Given the description of an element on the screen output the (x, y) to click on. 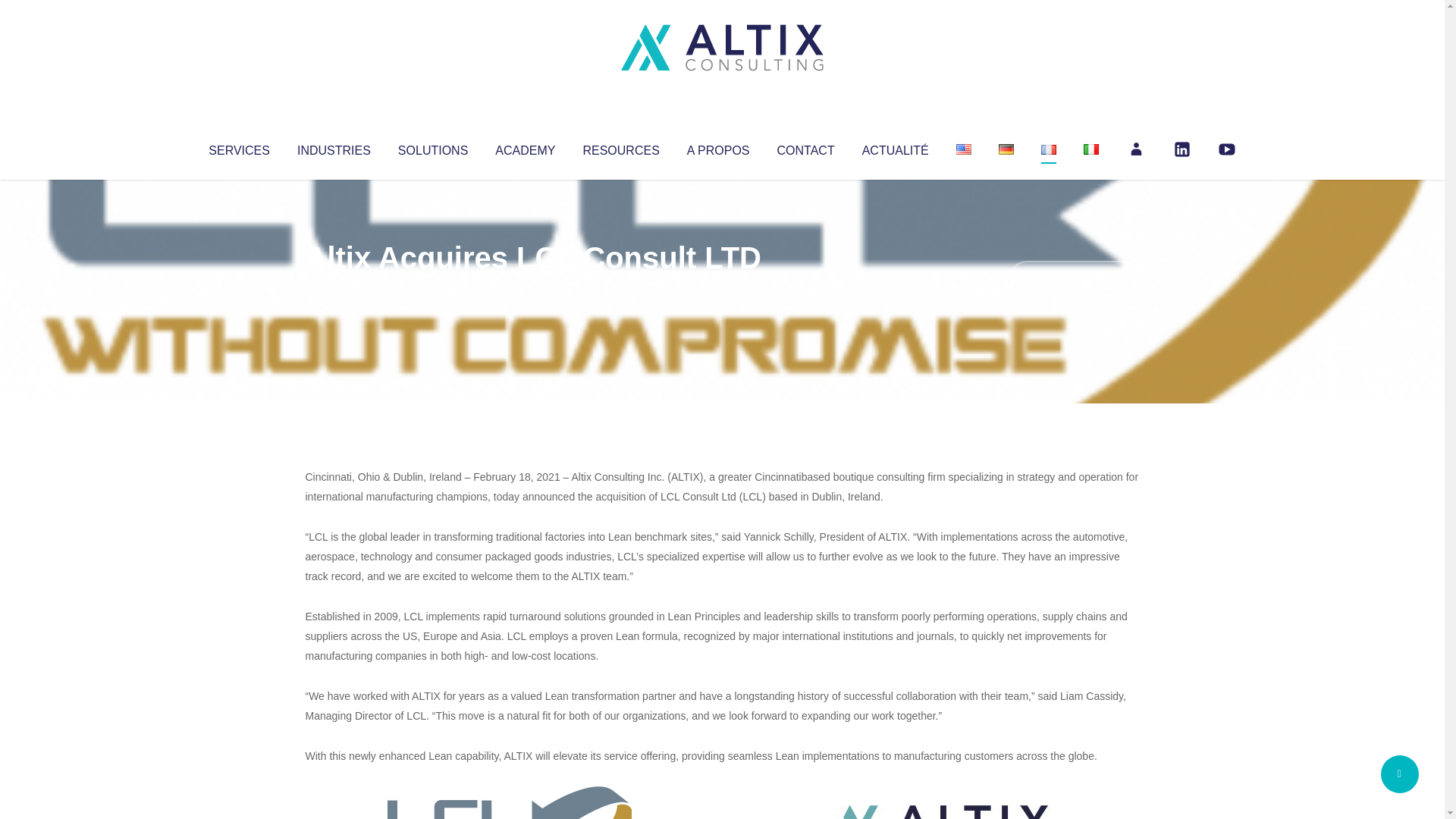
RESOURCES (620, 146)
No Comments (1073, 278)
Uncategorized (530, 287)
A PROPOS (718, 146)
Articles par Altix (333, 287)
INDUSTRIES (334, 146)
Altix (333, 287)
ACADEMY (524, 146)
SOLUTIONS (432, 146)
SERVICES (238, 146)
